Given the description of an element on the screen output the (x, y) to click on. 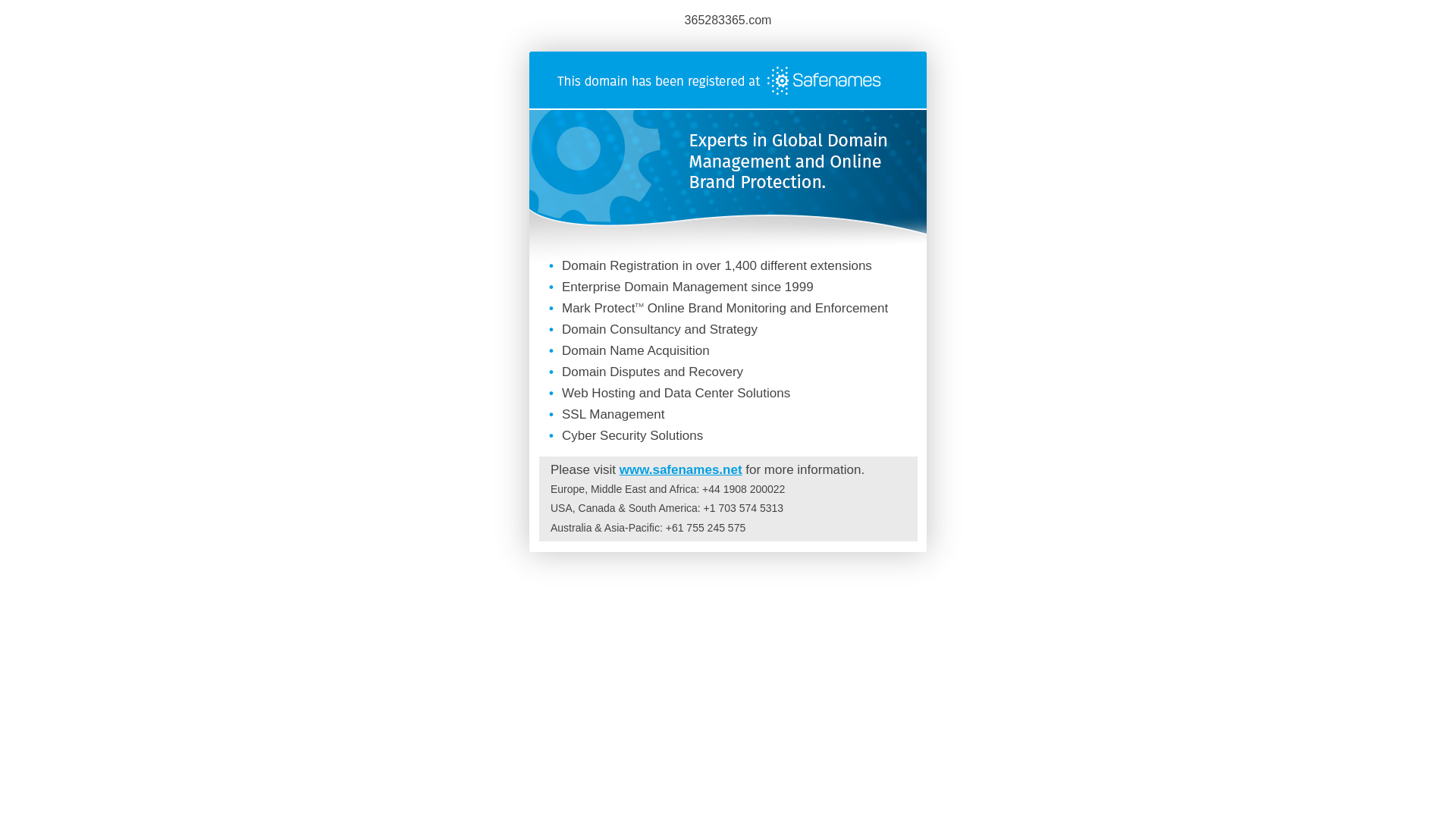
www.safenames.net Element type: text (680, 469)
